Given the description of an element on the screen output the (x, y) to click on. 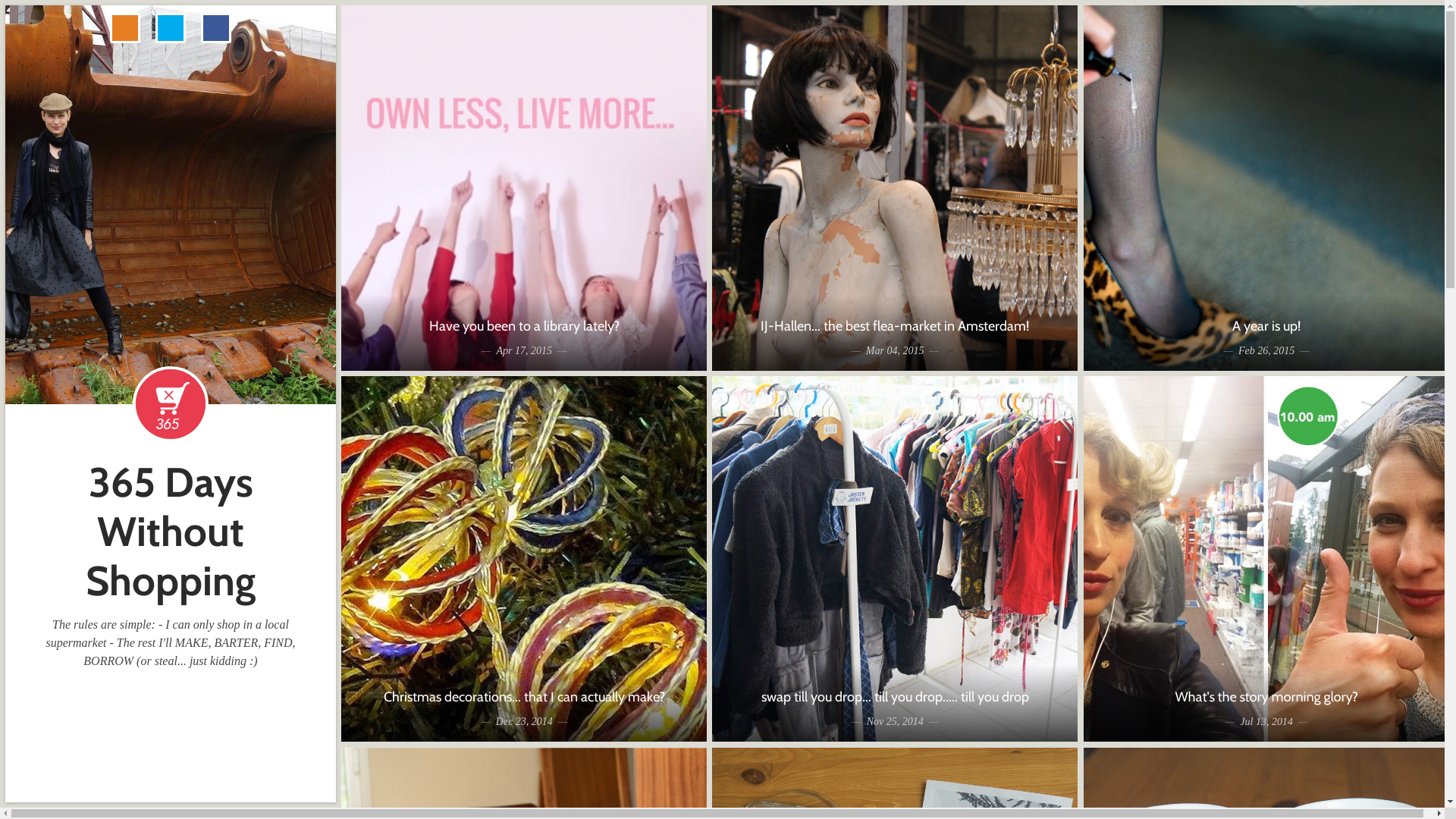
IJ-Hallen... the best flea-market in Amsterdam!
Mar 04, 2015 Element type: text (894, 187)
365 Days Without Shopping Element type: text (170, 531)
What's the story morning glory?
Jul 13, 2014 Element type: text (1266, 558)
A year is up!
Feb 26, 2015 Element type: text (1266, 187)
Have you been to a library lately?
Apr 17, 2015 Element type: text (523, 187)
